Given the description of an element on the screen output the (x, y) to click on. 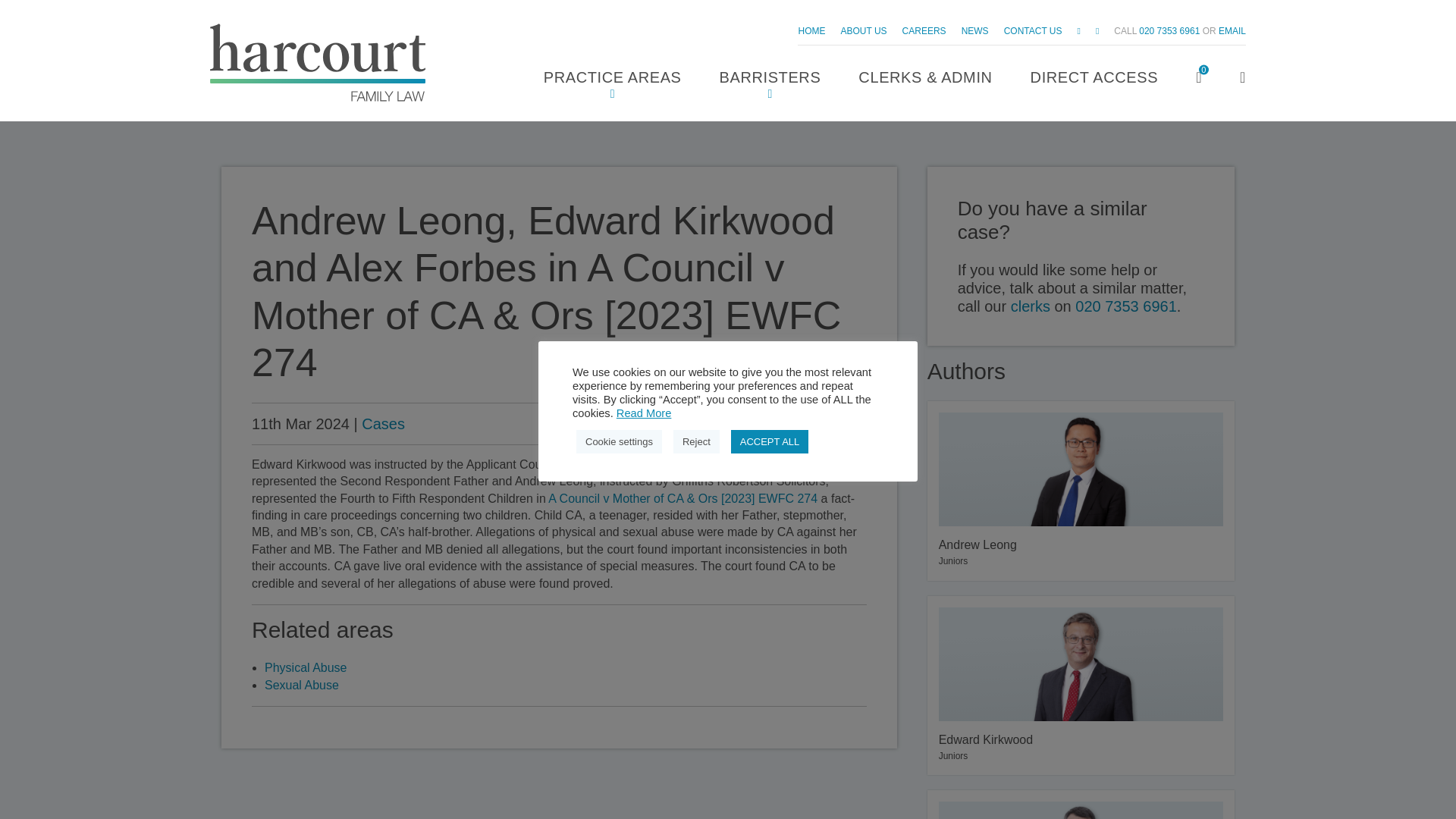
clerks (1029, 306)
HOME (811, 30)
CAREERS (924, 30)
NEWS (974, 30)
Physical Abuse (305, 667)
020 7353 6961 (1080, 490)
Sexual Abuse (1168, 30)
CONTACT US (301, 684)
020 7353 6961 (1033, 30)
Sexual Abuse (1125, 306)
EMAIL (301, 684)
BARRISTERS (1232, 30)
PRACTICE AREAS (770, 79)
Cases (612, 79)
